Given the description of an element on the screen output the (x, y) to click on. 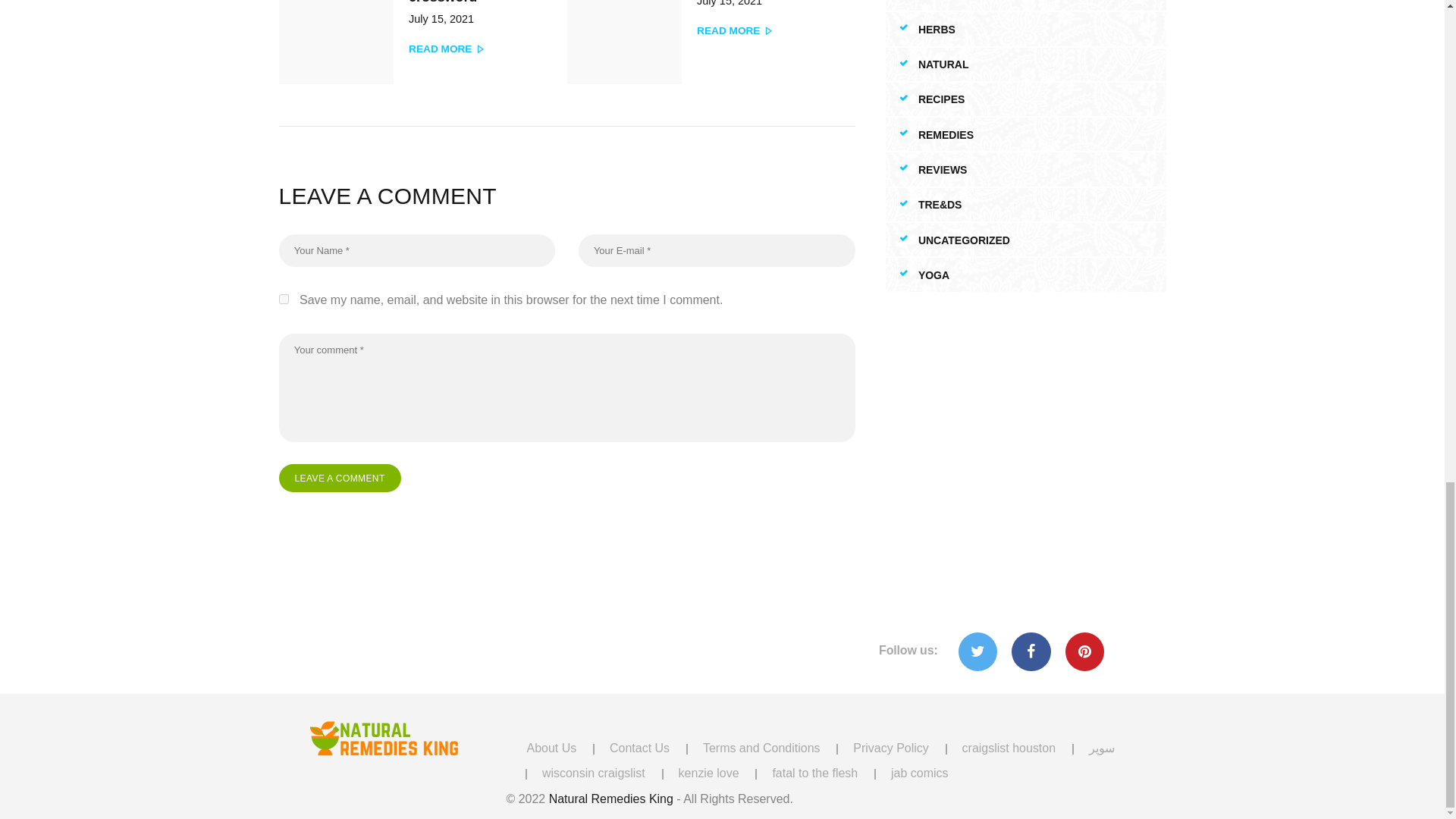
Leave a comment (705, 49)
Leave a comment (340, 478)
yes (340, 478)
